Given the description of an element on the screen output the (x, y) to click on. 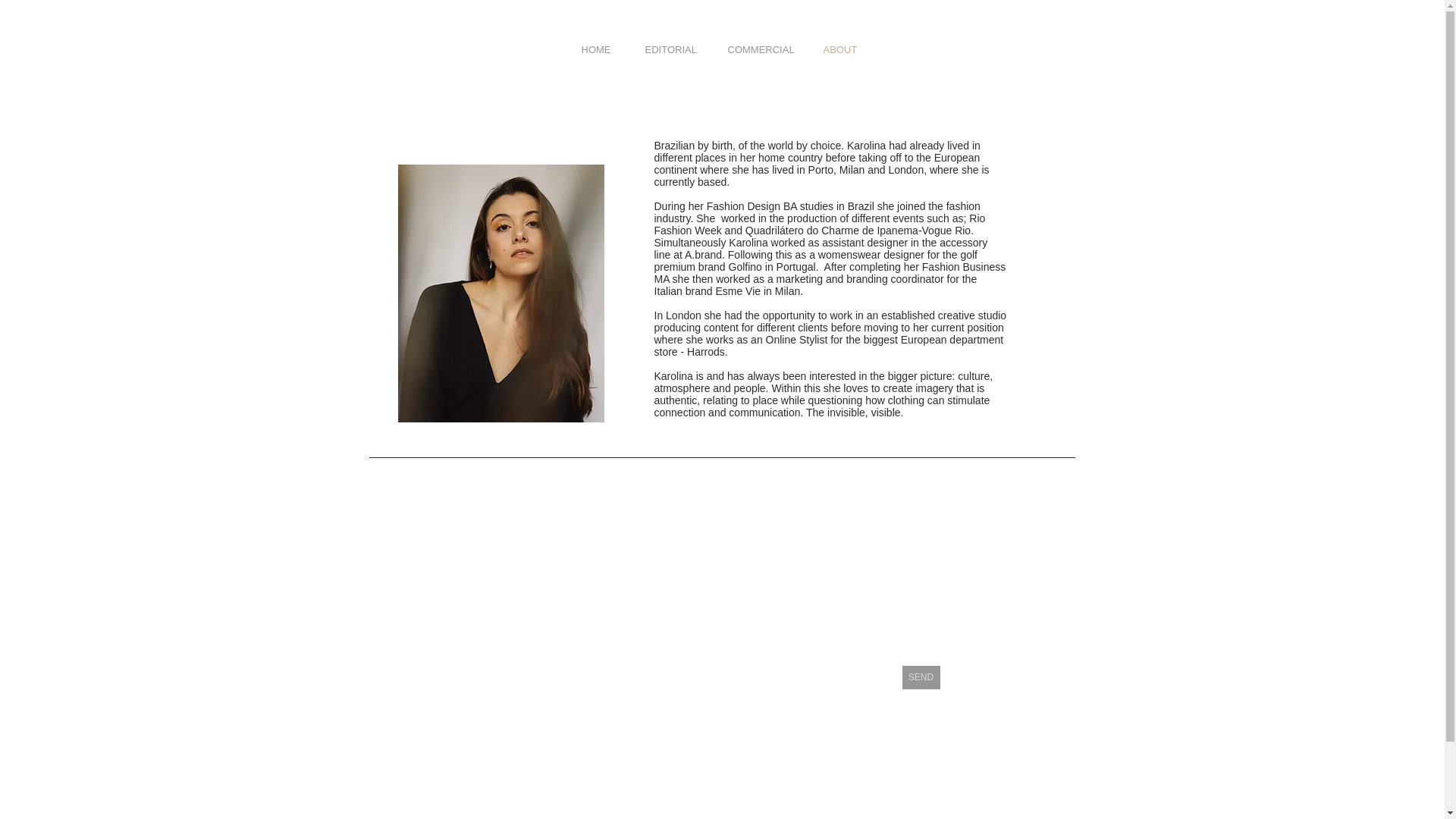
SEND (921, 677)
HOME (594, 49)
COMMERCIAL (755, 49)
EDITORIAL (667, 49)
ABOUT (837, 49)
